Given the description of an element on the screen output the (x, y) to click on. 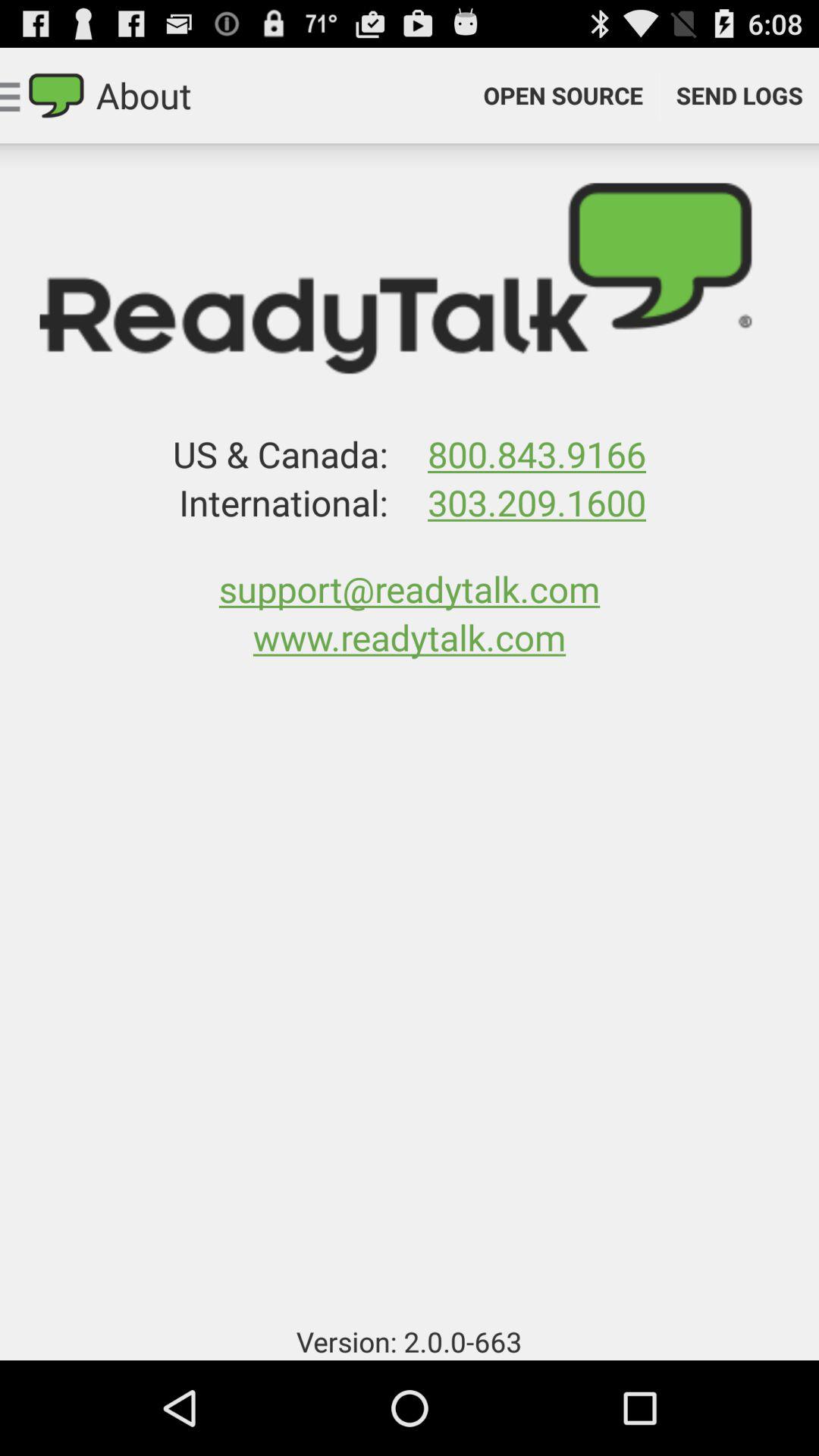
open send logs (739, 95)
